Given the description of an element on the screen output the (x, y) to click on. 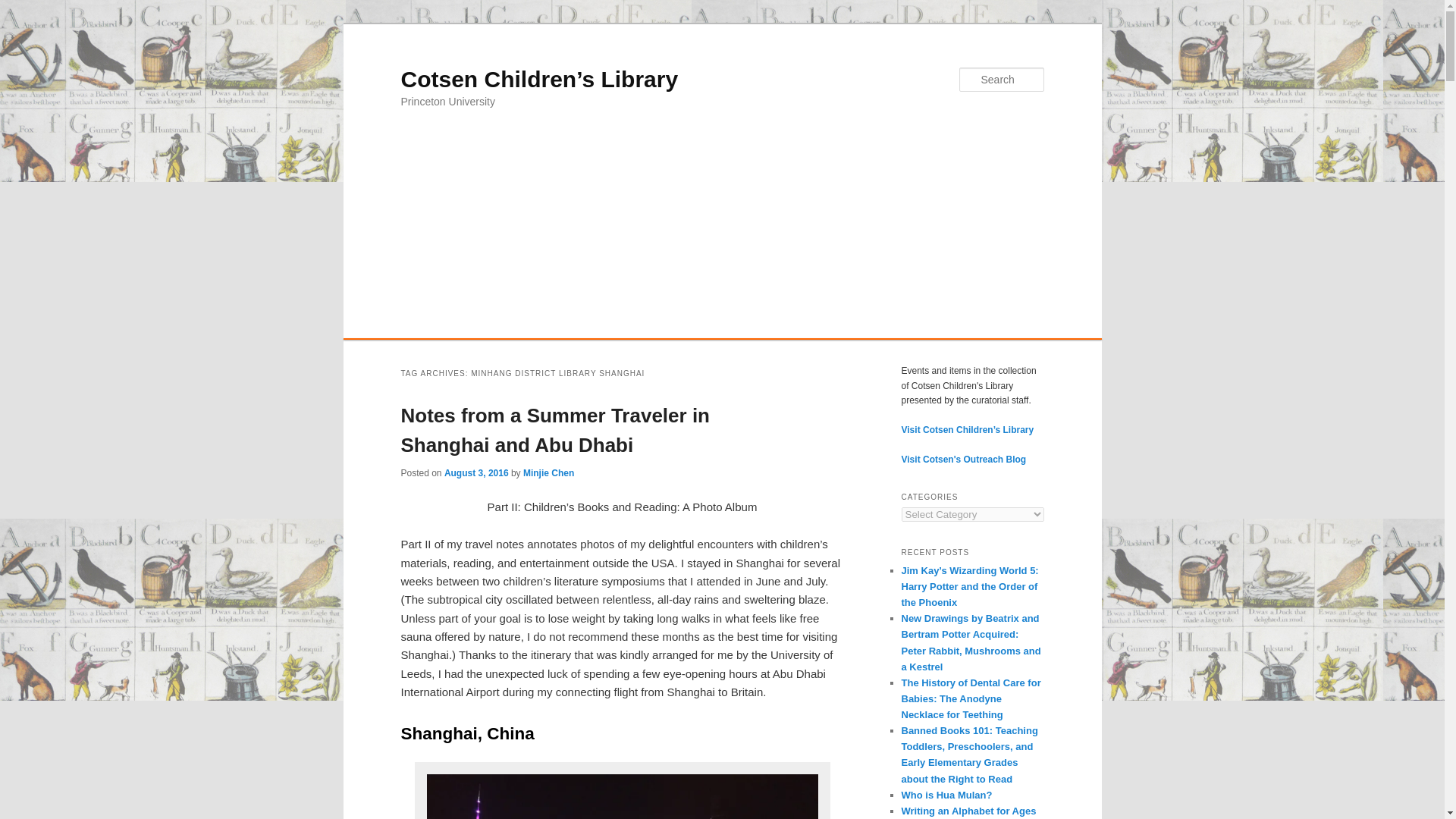
View all posts by Minjie Chen (547, 472)
August 3, 2016 (476, 472)
Minjie Chen (547, 472)
Search (24, 8)
Notes from a Summer Traveler in Shanghai and Abu Dhabi (554, 430)
11:59 pm (476, 472)
